Given the description of an element on the screen output the (x, y) to click on. 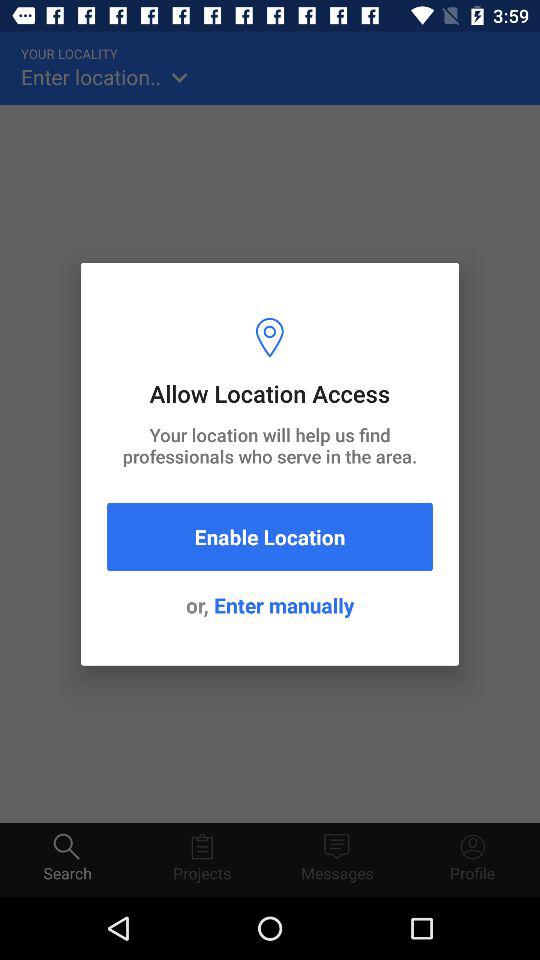
select the item below your location will item (269, 536)
